Given the description of an element on the screen output the (x, y) to click on. 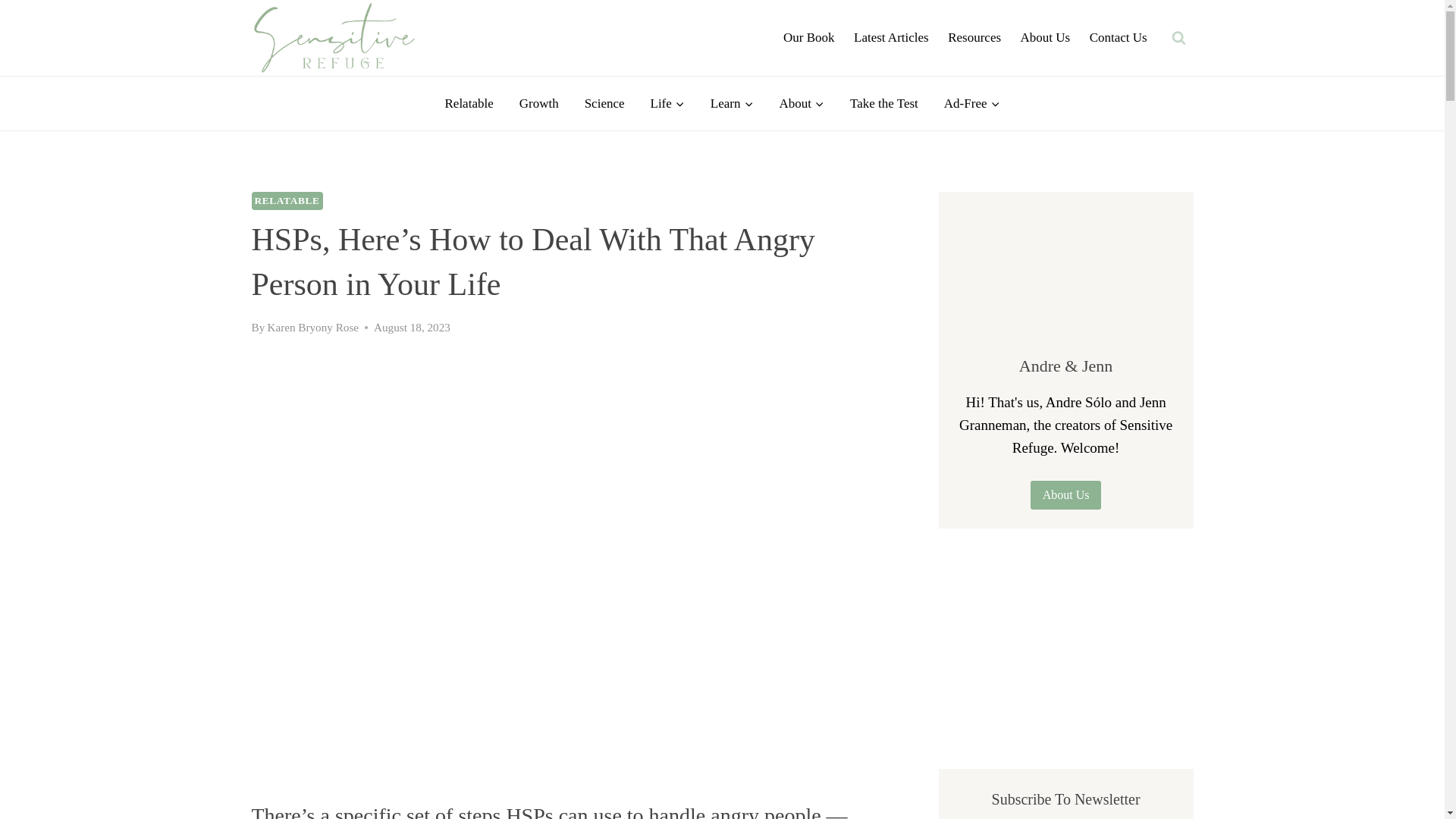
Latest Articles (890, 37)
Ad-Free (972, 103)
Learn (732, 103)
Relatable (469, 103)
Our Book (808, 37)
RELATABLE (287, 200)
Take the Test (884, 103)
Life (667, 103)
About (801, 103)
Growth (539, 103)
About Us (1045, 37)
Resources (973, 37)
Karen Bryony Rose (312, 327)
Science (604, 103)
Contact Us (1118, 37)
